Given the description of an element on the screen output the (x, y) to click on. 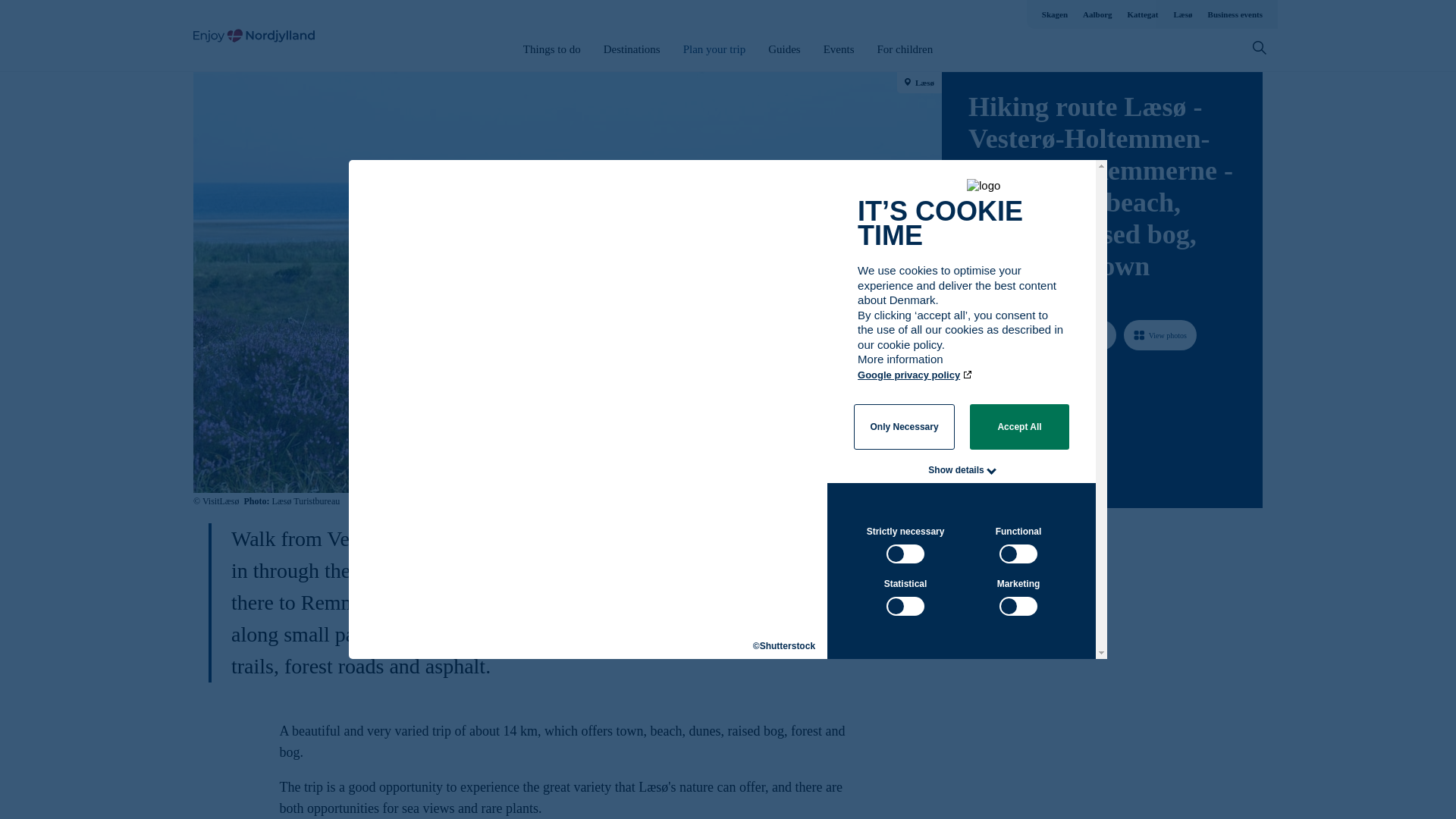
Google privacy policy (915, 374)
Path (973, 439)
More information (900, 366)
Show details (956, 470)
Only Necessary (904, 426)
Path (973, 379)
Accept All (1018, 426)
